Given the description of an element on the screen output the (x, y) to click on. 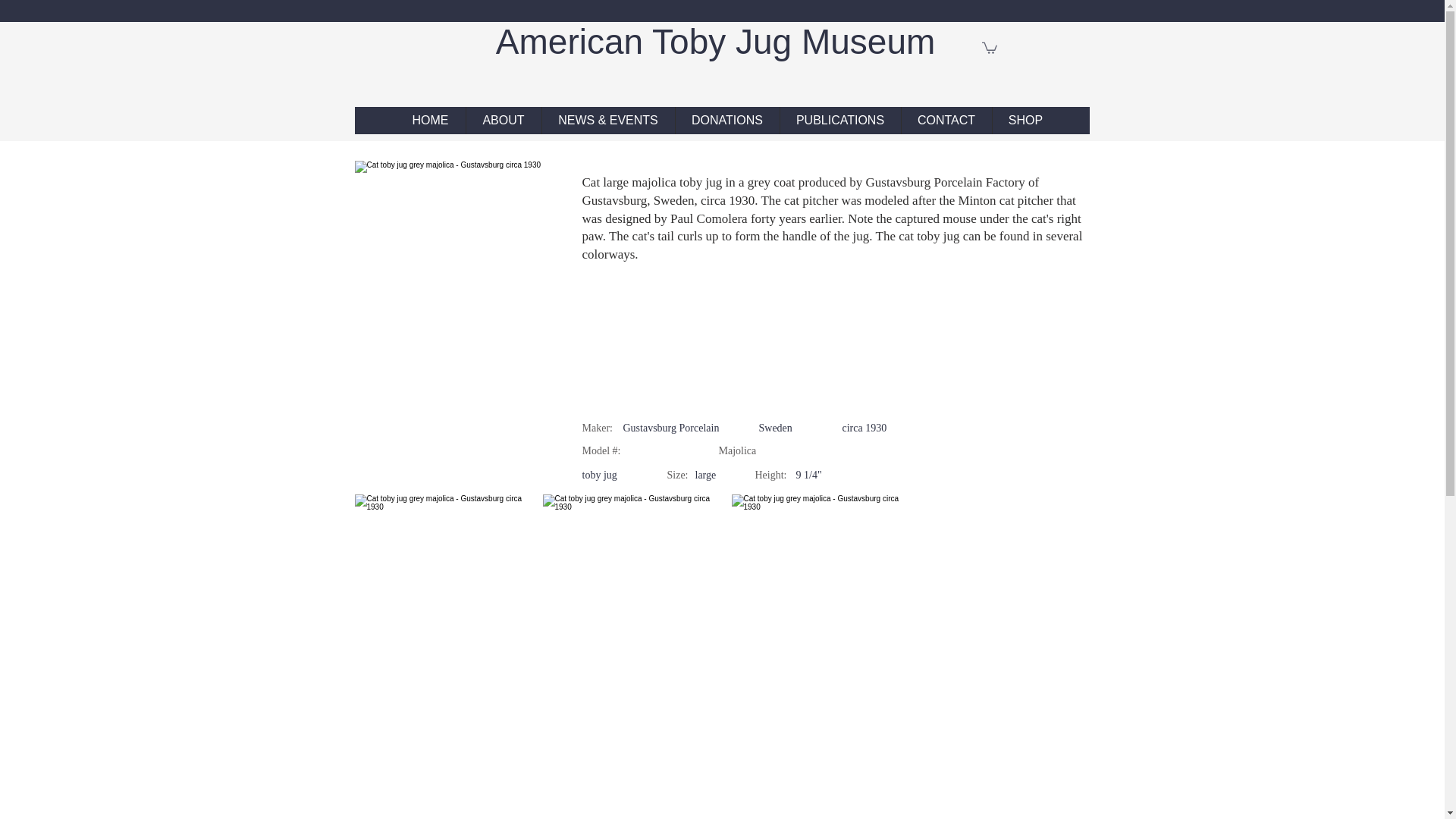
DONATIONS (726, 120)
HOME (430, 120)
SHOP (1024, 120)
CONTACT (946, 120)
American Toby Jug Museum  (720, 41)
ABOUT (502, 120)
PUBLICATIONS (838, 120)
